Given the description of an element on the screen output the (x, y) to click on. 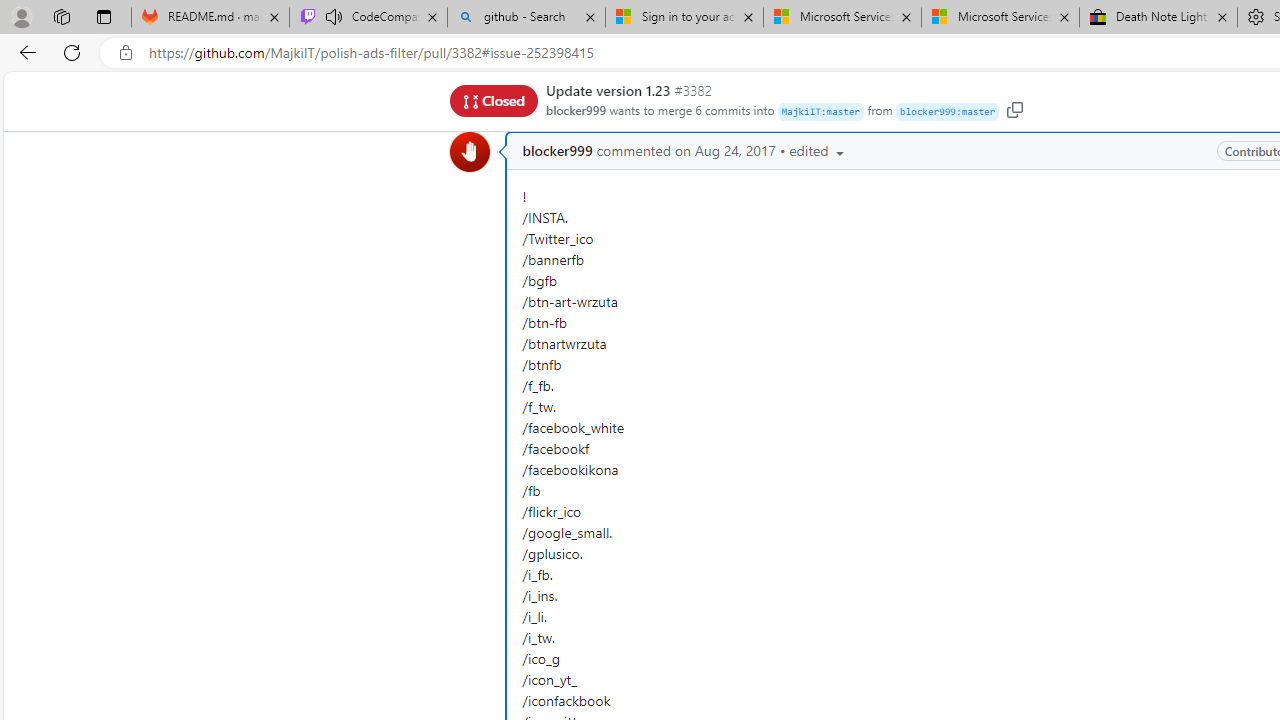
blocker999 (469, 151)
blocker999 (557, 151)
 Files changed 1 (972, 95)
 Checks 0 (822, 95)
blocker999 : master (947, 111)
Update version 1.23 (607, 89)
 Conversation 5 (532, 95)
Mute tab (333, 16)
Copy (1014, 109)
edited  (818, 150)
